Given the description of an element on the screen output the (x, y) to click on. 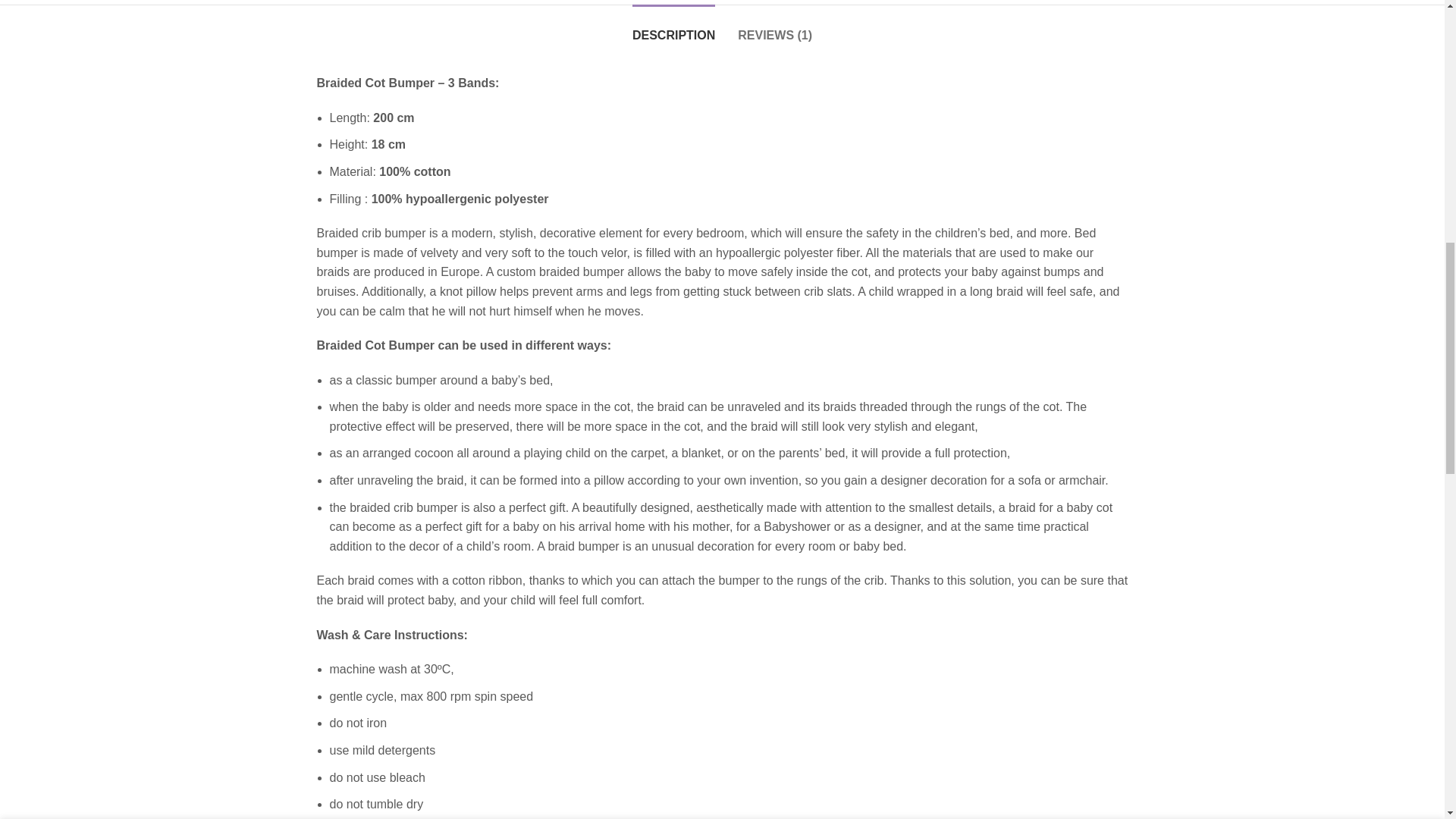
DESCRIPTION (672, 27)
